Given the description of an element on the screen output the (x, y) to click on. 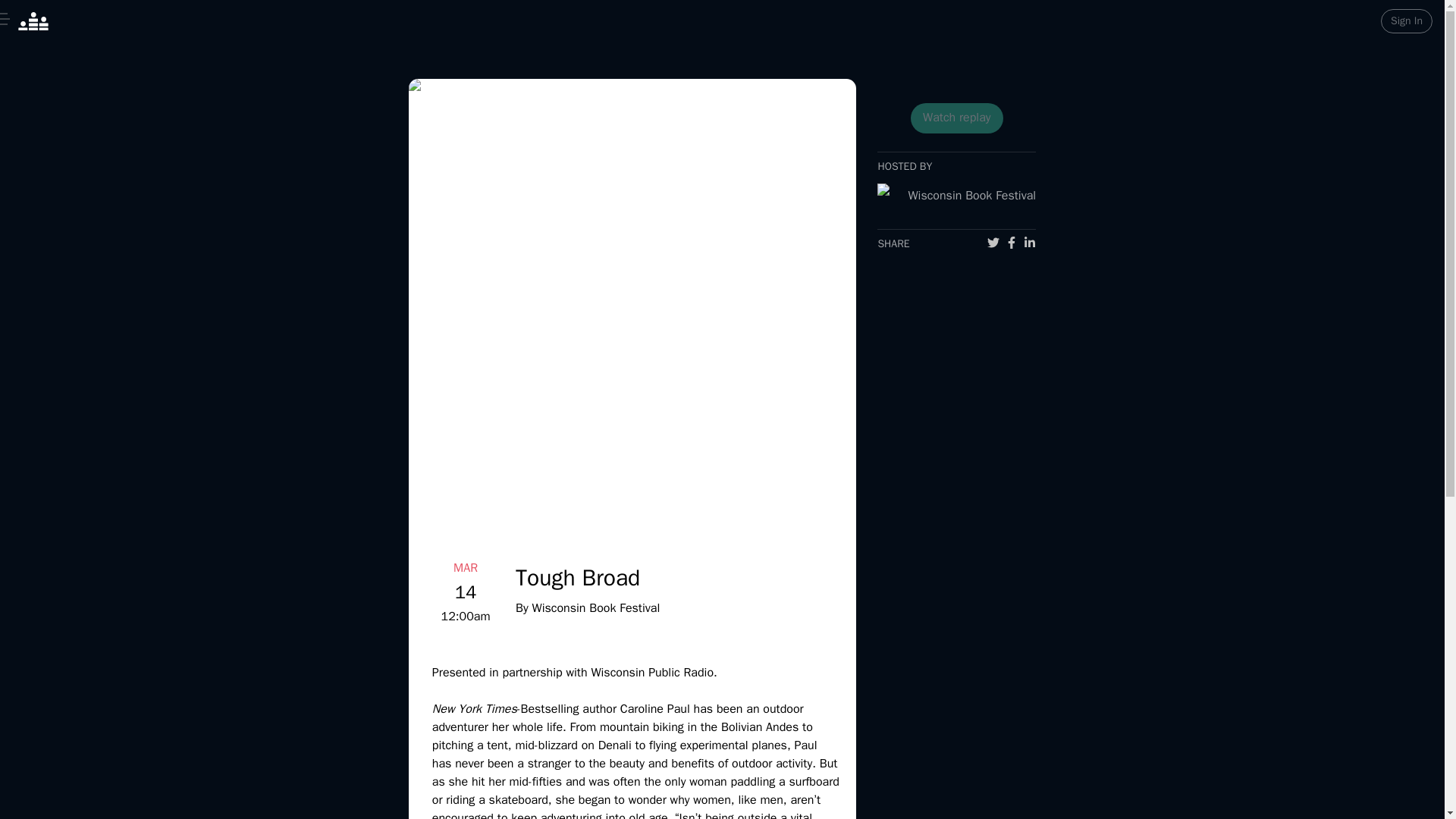
Sign In (1406, 21)
Watch replay (957, 118)
